Given the description of an element on the screen output the (x, y) to click on. 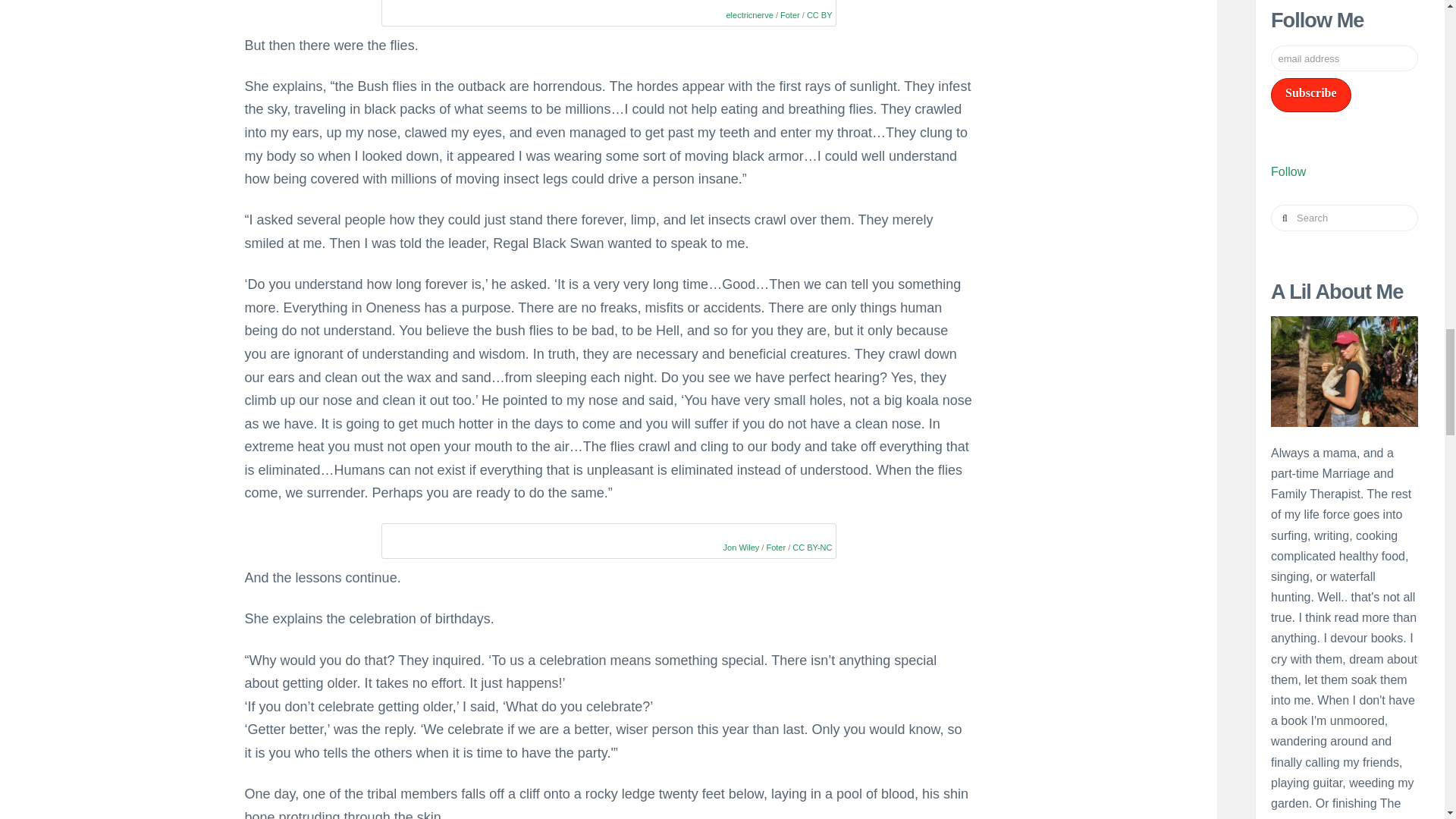
CC BY-NC (811, 547)
Foter (775, 547)
ADVENTURES IN THE CHANNEL ISLANDS: CALIFORNIA BACK IN TIME (1343, 654)
ADVENTURES IN THE CHANNEL ISLANDS: CALIFORNIA BACK IN TIME (1343, 817)
ADVENTURES IN THE CHANNEL ISLANDS: CALIFORNIA BACK IN TIME (1340, 546)
CHRISSY (1343, 804)
CC BY (819, 14)
Jon Wiley (741, 547)
ADVENTURES IN THE CHANNEL ISLANDS: CALIFORNIA BACK IN TIME (1343, 743)
Foter (789, 14)
